Given the description of an element on the screen output the (x, y) to click on. 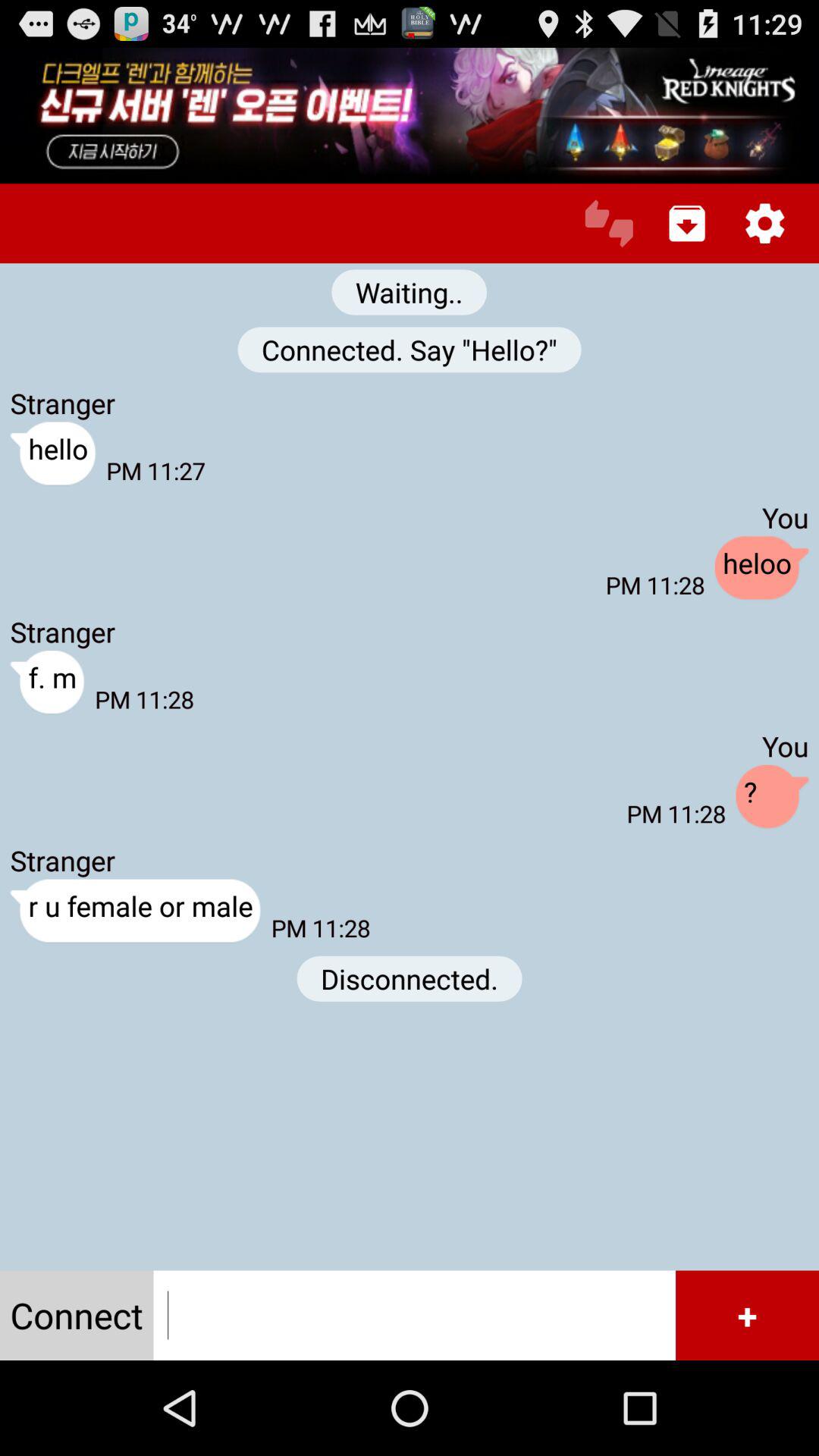
select item next to pm 11:28 app (761, 568)
